Given the description of an element on the screen output the (x, y) to click on. 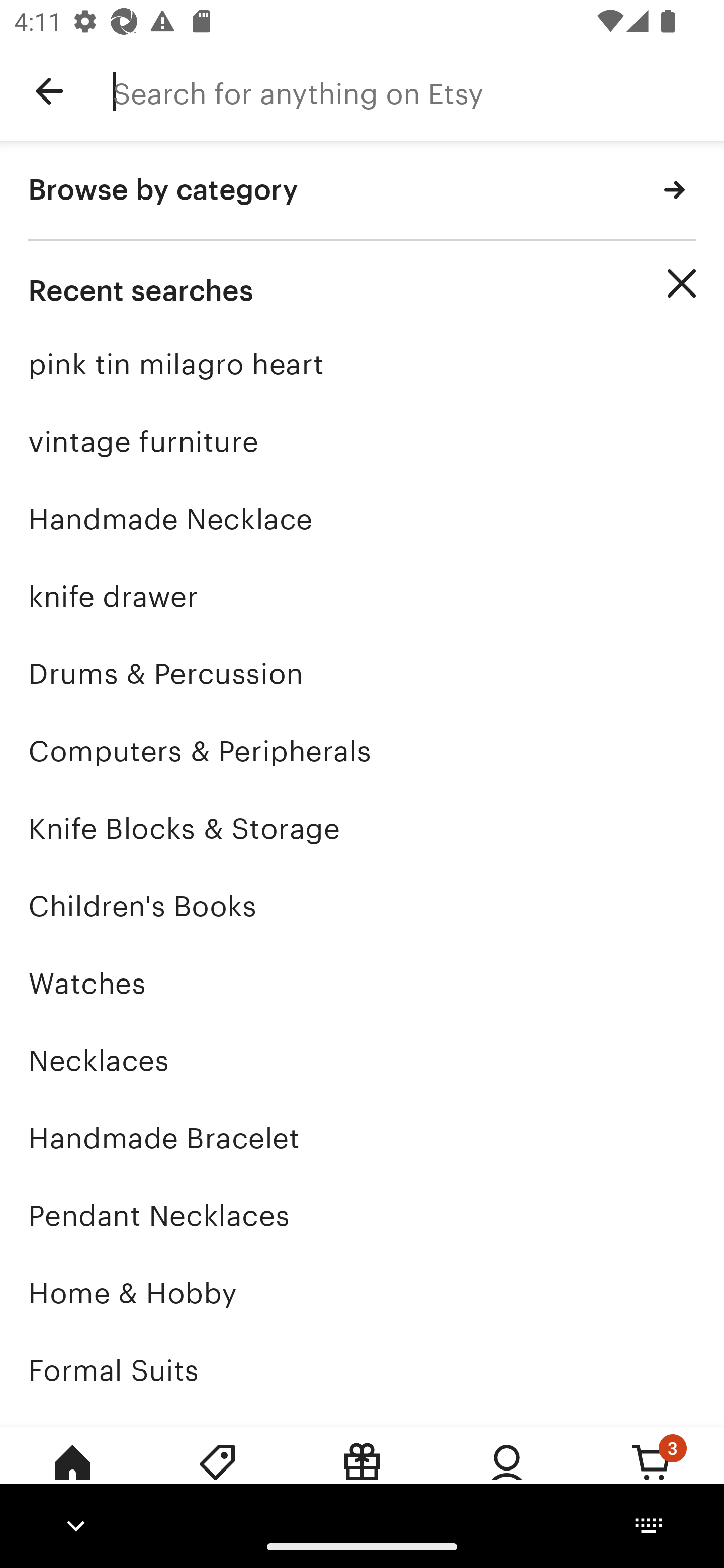
Navigate up (49, 91)
Search for anything on Etsy (418, 91)
Browse by category (362, 191)
Clear (681, 283)
pink tin milagro heart (362, 364)
vintage furniture (362, 440)
Handmade Necklace (362, 518)
knife drawer (362, 596)
Drums & Percussion (362, 673)
Computers & Peripherals (362, 750)
Knife Blocks & Storage (362, 828)
Children's Books (362, 906)
Watches (362, 983)
Necklaces (362, 1060)
Handmade Bracelet (362, 1138)
Pendant Necklaces (362, 1215)
Home & Hobby (362, 1292)
Formal Suits (362, 1370)
Deals (216, 1475)
Gift Mode (361, 1475)
You (506, 1475)
Cart, 3 new notifications (651, 1475)
